Given the description of an element on the screen output the (x, y) to click on. 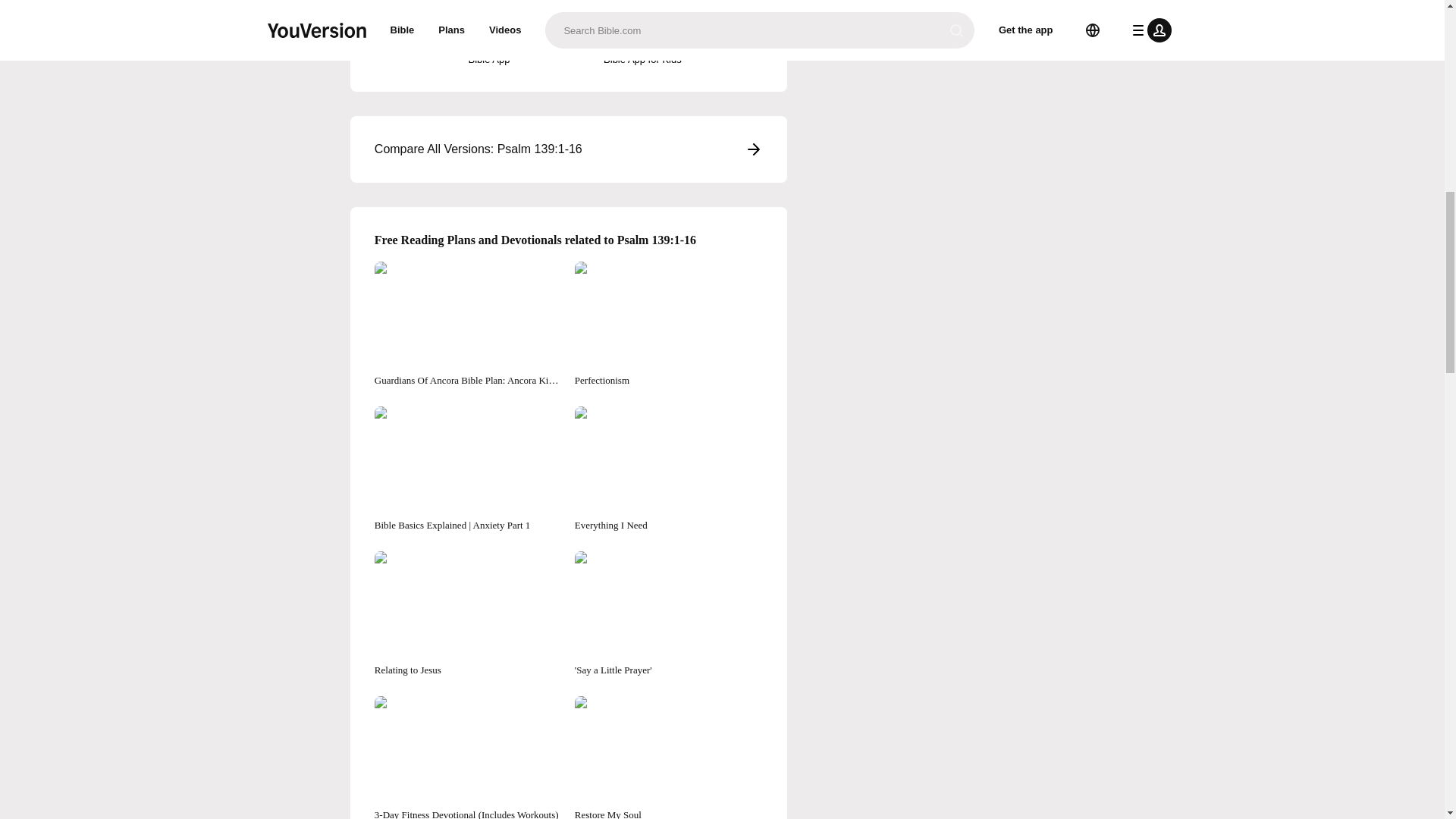
Compare All Versions: Psalm 139:1-16 (568, 149)
Bible App (488, 33)
Perfectionism (668, 324)
Guardians Of Ancora Bible Plan: Ancora Kids Head To School (468, 324)
'Say a Little Prayer' (668, 614)
Restore My Soul (668, 757)
Everything I Need (668, 469)
Relating to Jesus (468, 614)
Bible App for Kids (642, 33)
